Given the description of an element on the screen output the (x, y) to click on. 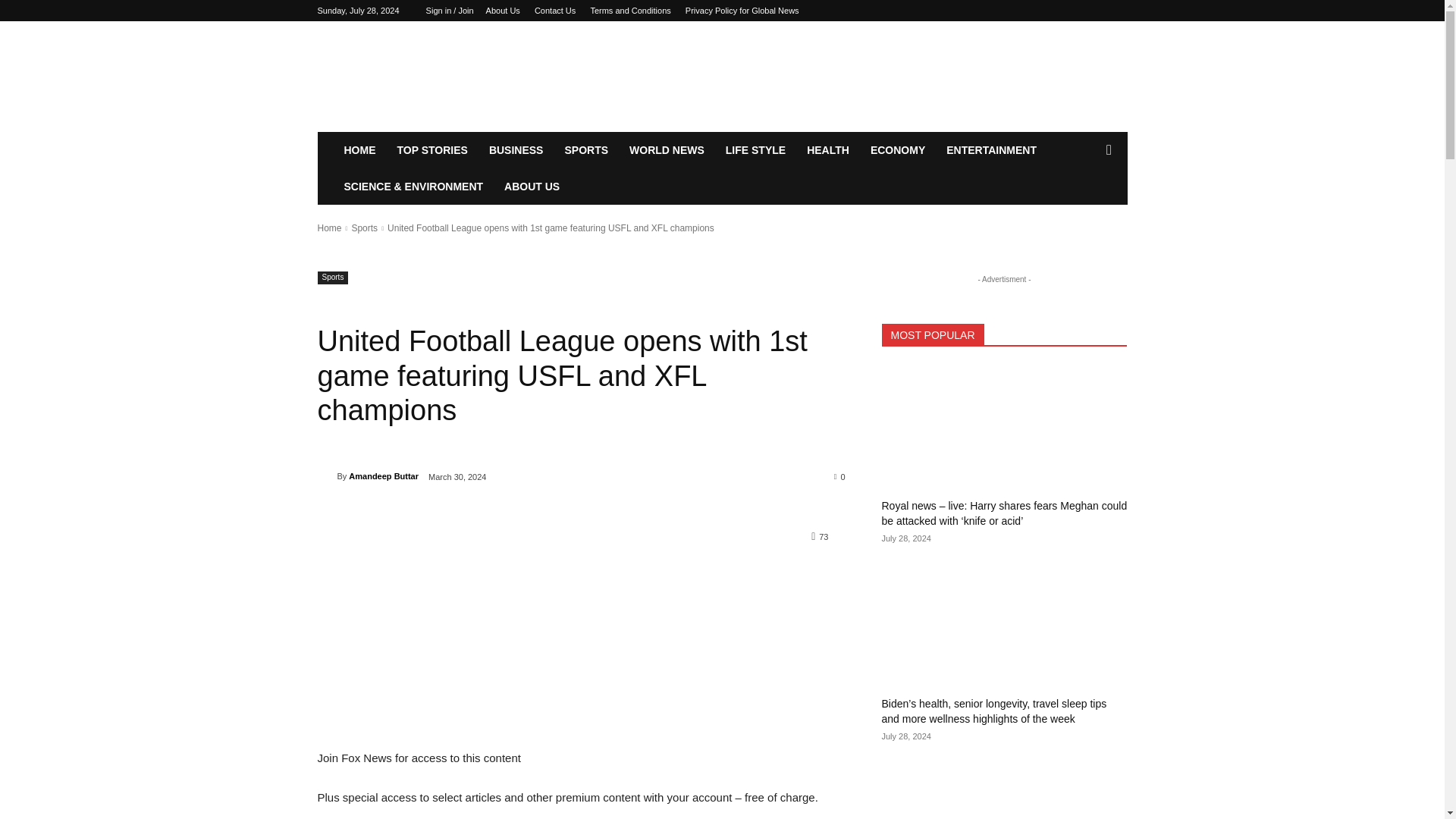
Terms and Conditions (629, 10)
BUSINESS (516, 149)
HOME (360, 149)
Privacy Policy for Global News (742, 10)
Contact Us (554, 10)
About Us (502, 10)
TOP STORIES (433, 149)
